Given the description of an element on the screen output the (x, y) to click on. 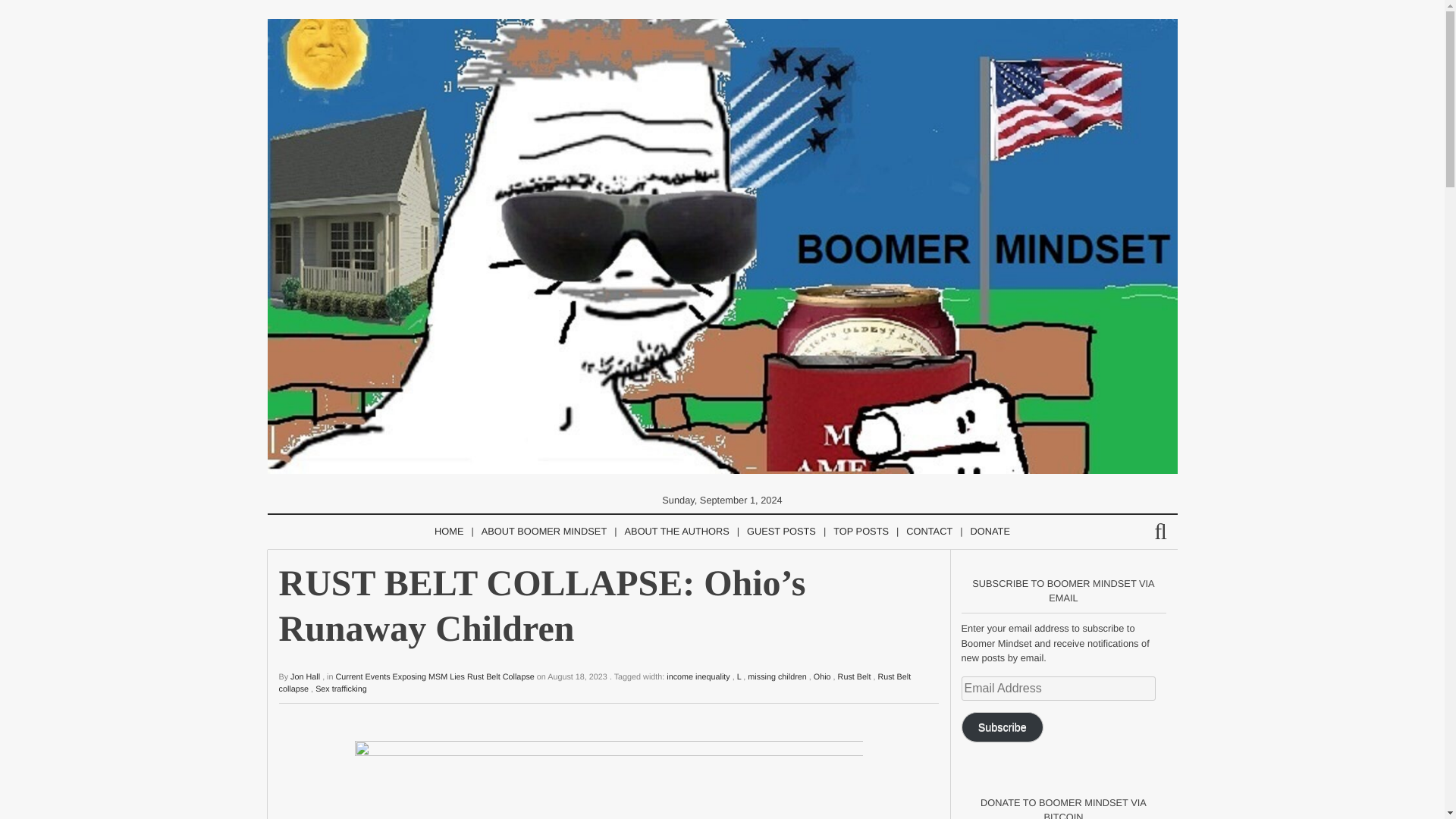
ABOUT BOOMER MINDSET (544, 531)
Exposing MSM Lies (428, 676)
Rust Belt Collapse (500, 676)
HOME (448, 531)
ABOUT THE AUTHORS (676, 531)
missing children (777, 676)
Rust Belt collapse (595, 682)
TOP POSTS (860, 531)
CONTACT (928, 531)
Jon Hall (304, 676)
